Given the description of an element on the screen output the (x, y) to click on. 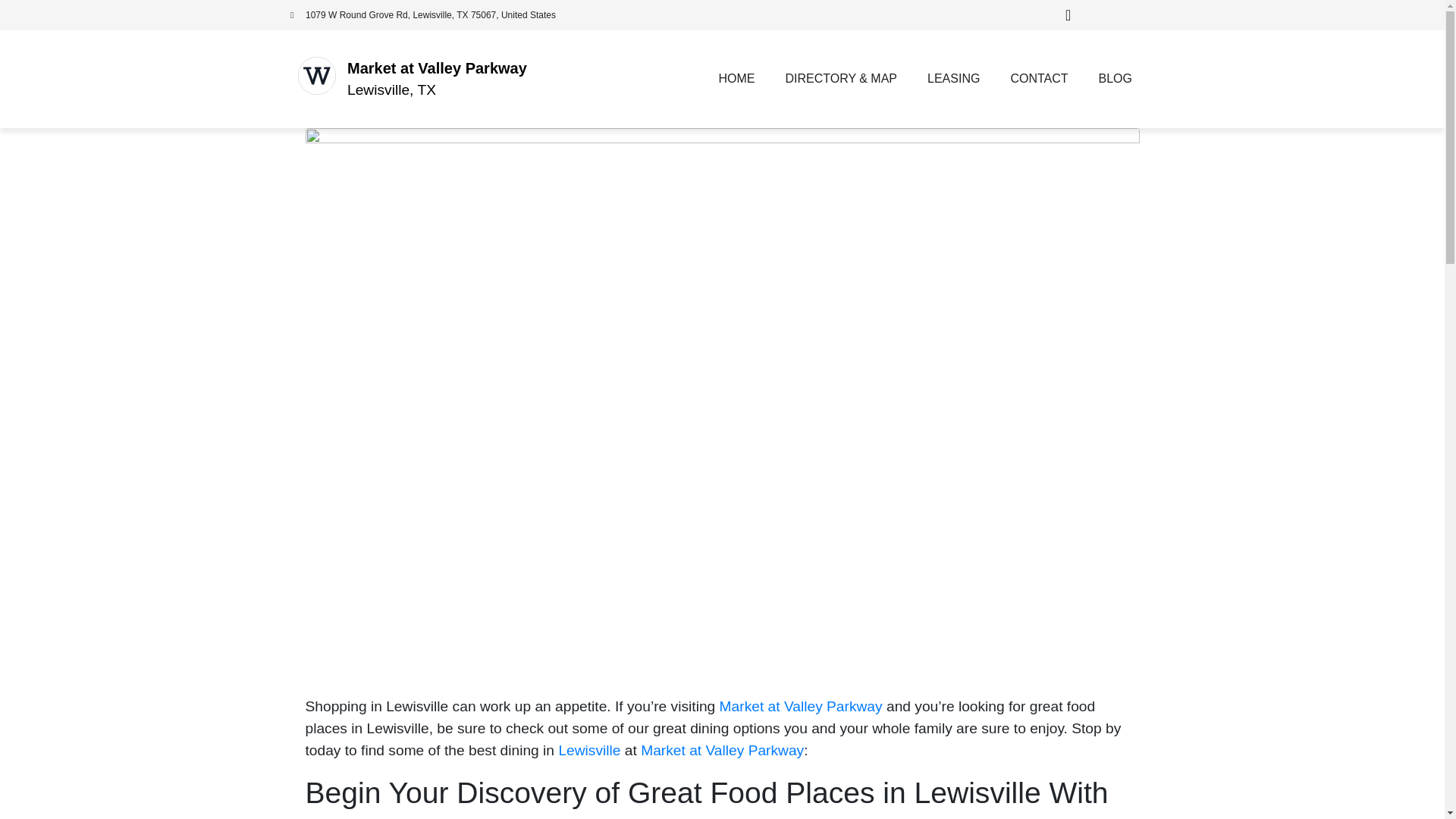
Market at Valley Parkway (721, 750)
Lewisville (588, 750)
HOME (736, 78)
Market at Valley Parkway (437, 67)
LEASING (953, 78)
Market at Valley Parkway (800, 706)
CONTACT (1038, 78)
BLOG (1115, 78)
